Given the description of an element on the screen output the (x, y) to click on. 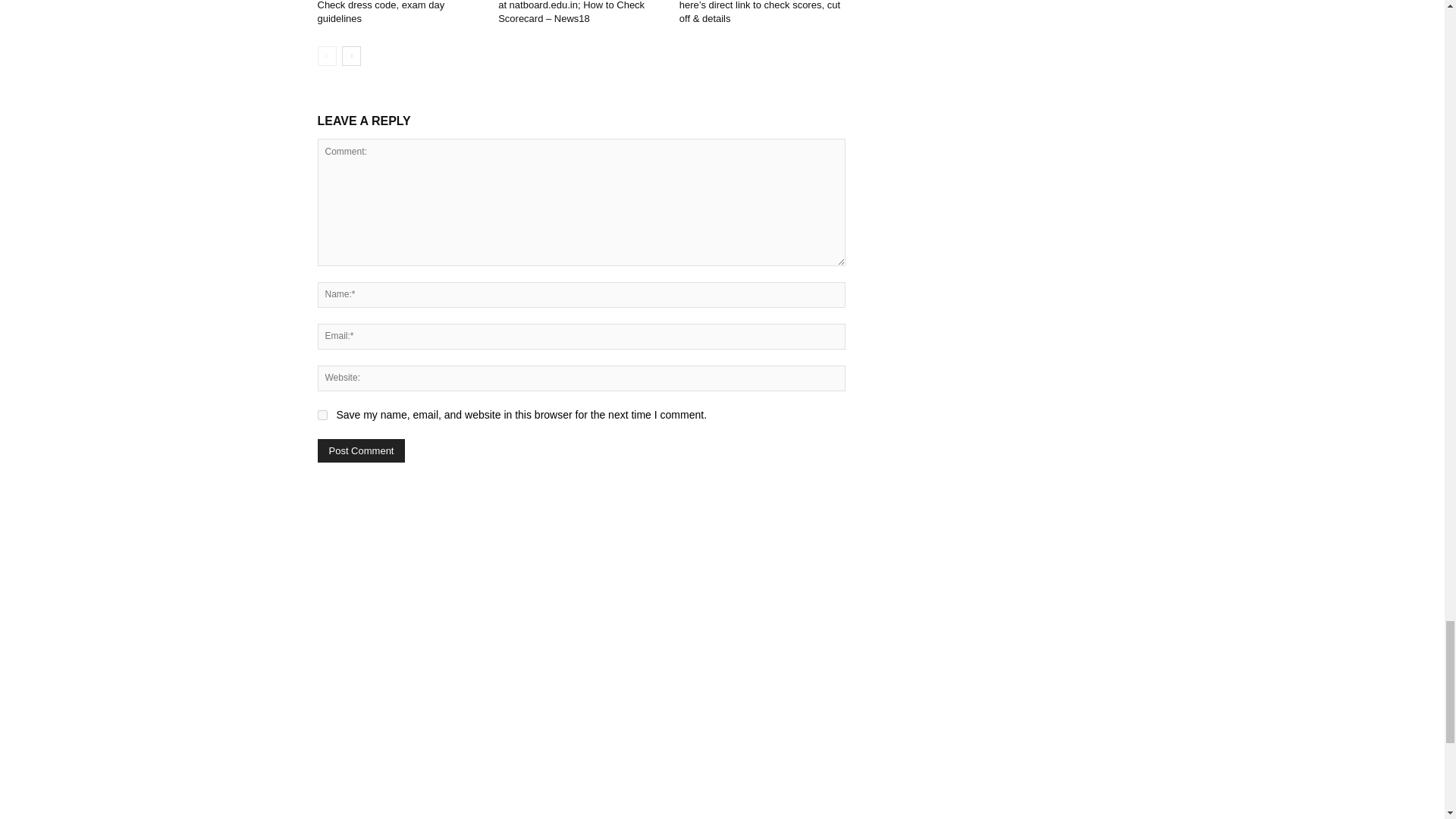
yes (321, 415)
Post Comment (360, 450)
